Given the description of an element on the screen output the (x, y) to click on. 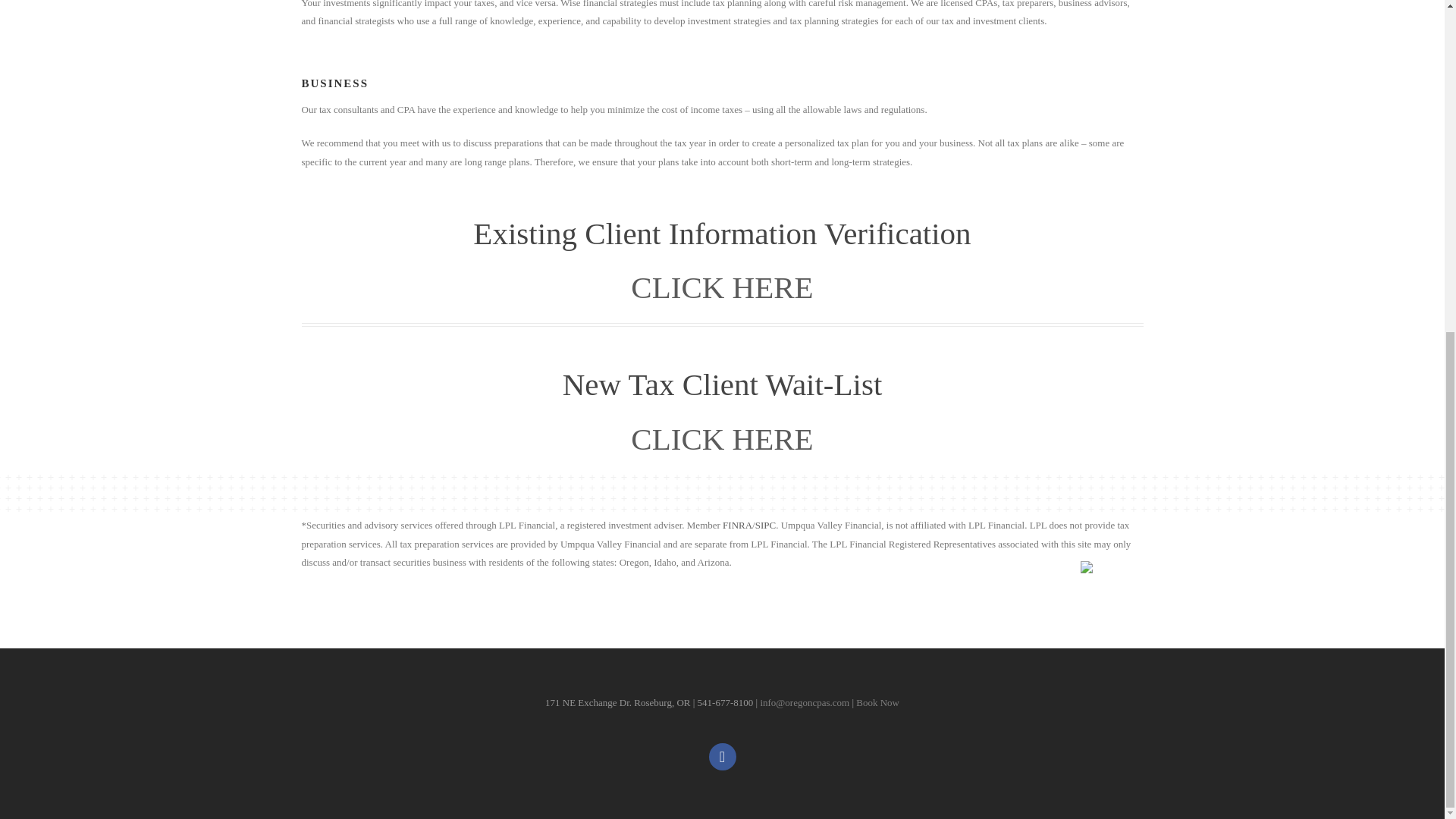
CLICK HERE (721, 438)
SIPC (765, 524)
Facebook (721, 755)
CLICK HERE (721, 287)
FINRA (737, 524)
